Given the description of an element on the screen output the (x, y) to click on. 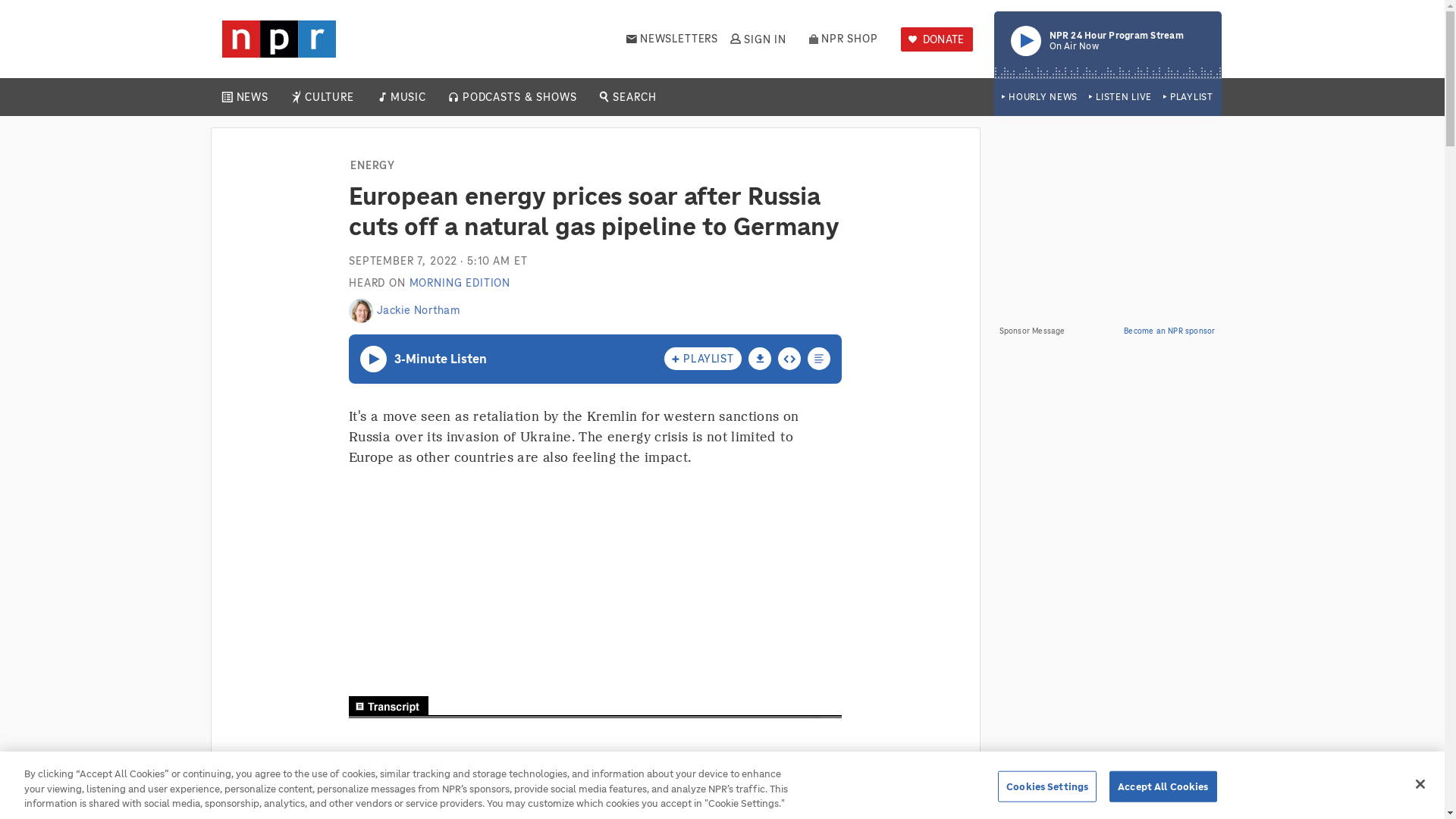
DONATE (1106, 44)
NEWS (936, 39)
HOURLY NEWS (251, 96)
NEWSLETTERS (1039, 97)
LISTEN LIVE (671, 38)
SIGN IN (1120, 97)
NPR SHOP (757, 38)
MUSIC (843, 38)
CULTURE (407, 96)
PLAYLIST (328, 96)
